Given the description of an element on the screen output the (x, y) to click on. 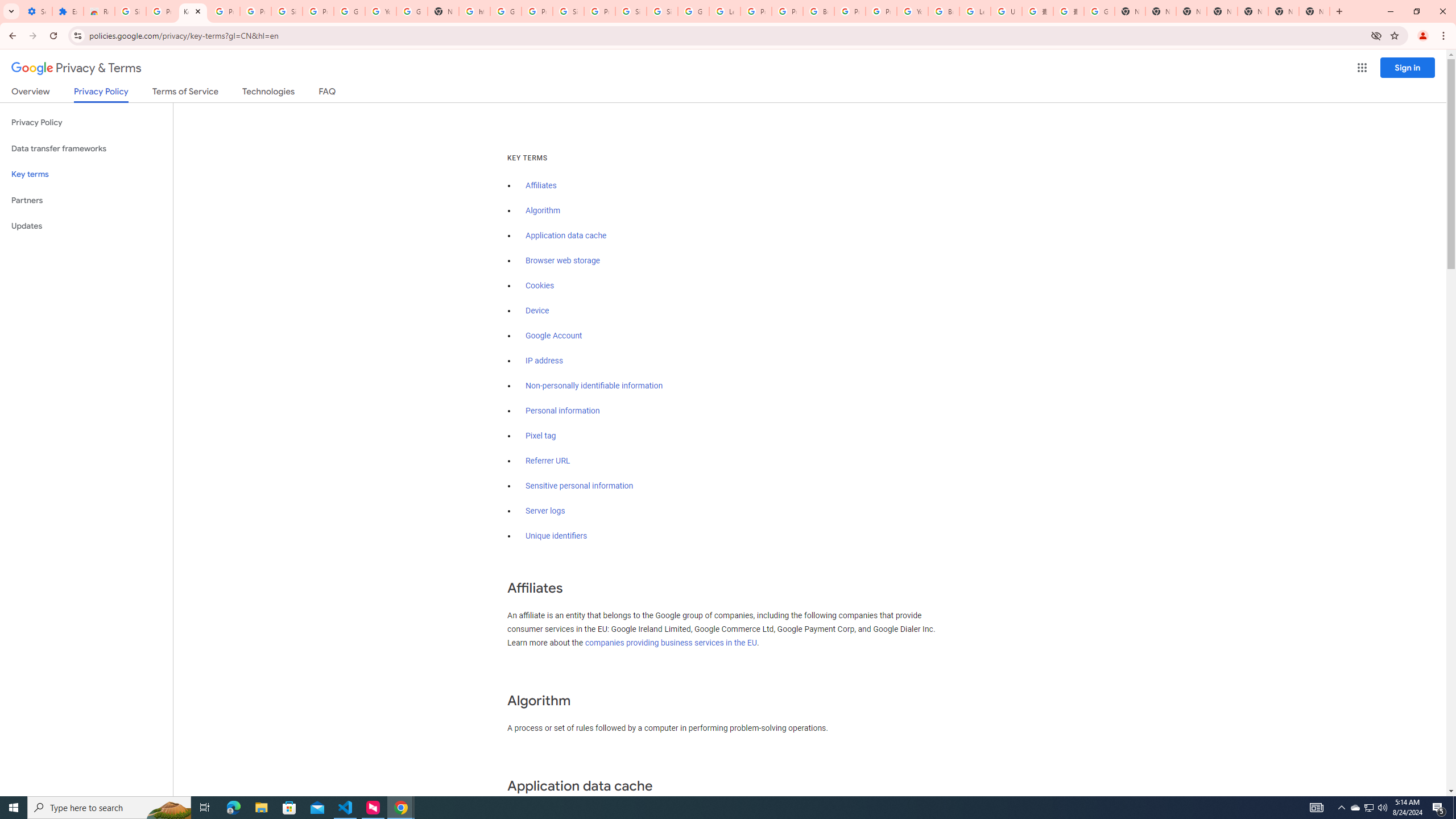
Browser web storage (562, 260)
Affiliates (540, 185)
https://scholar.google.com/ (474, 11)
Sensitive personal information (579, 486)
